Given the description of an element on the screen output the (x, y) to click on. 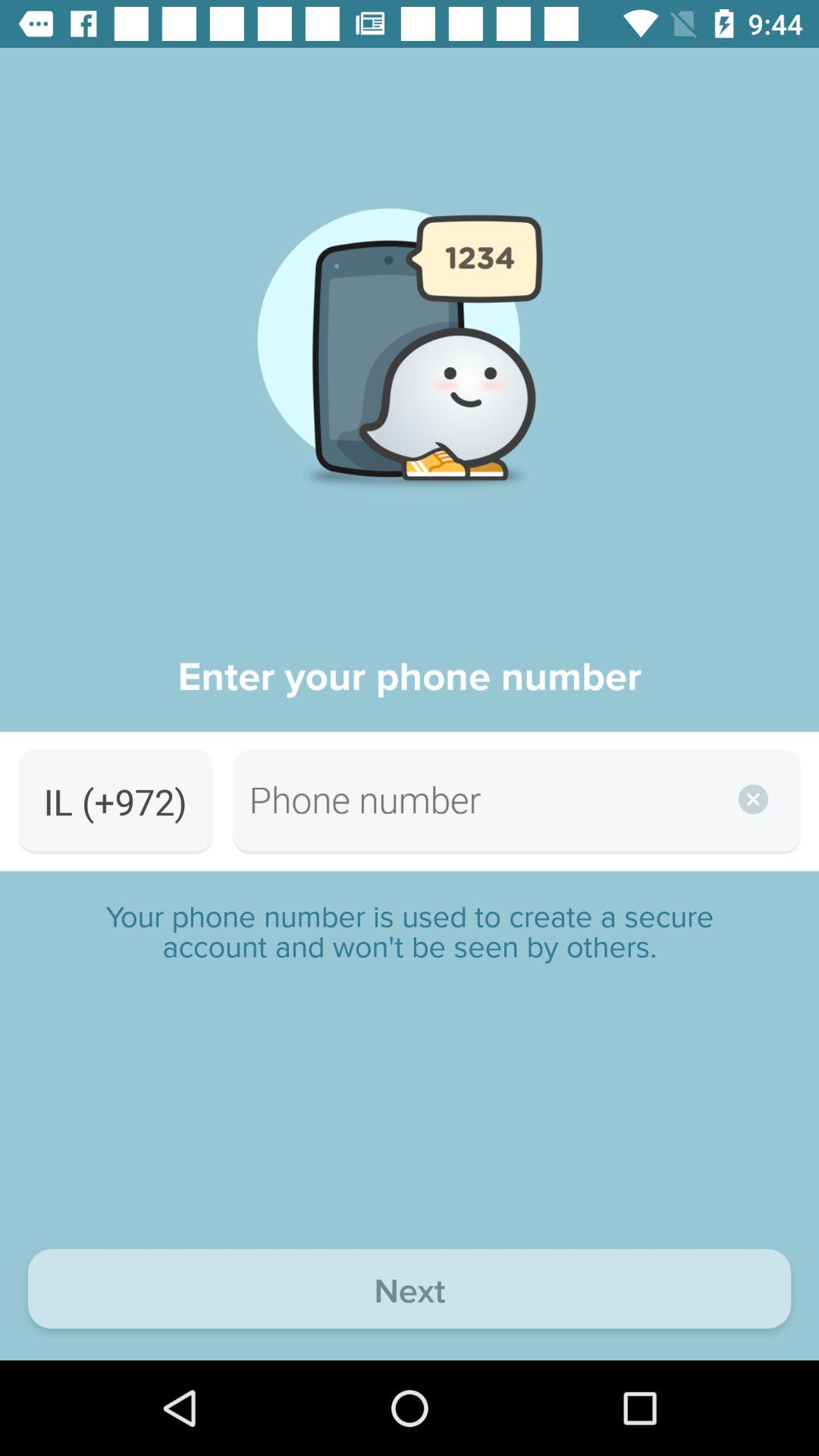
turn on the next item (409, 1292)
